Given the description of an element on the screen output the (x, y) to click on. 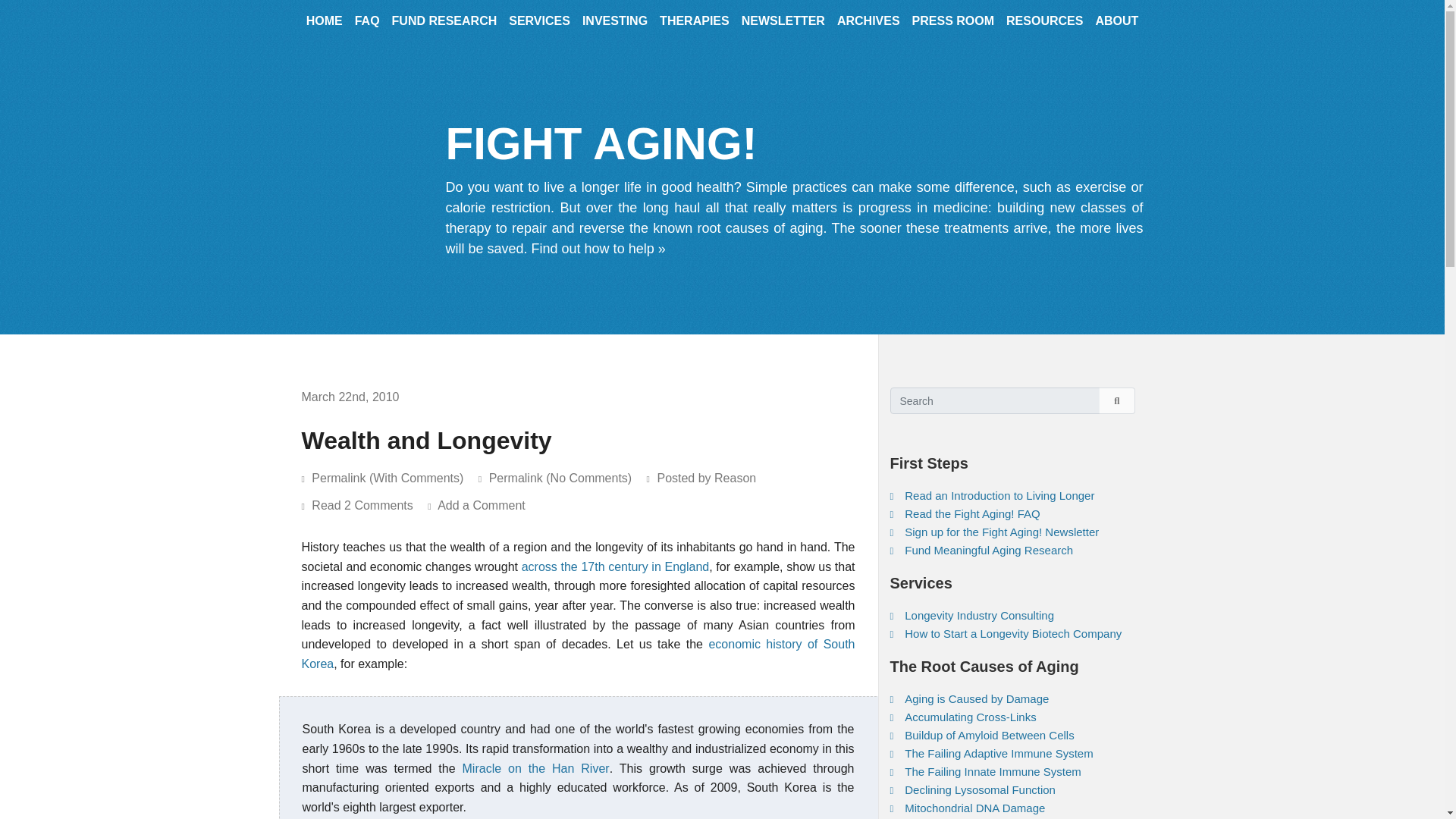
across the 17th century in England (615, 566)
FUND RESEARCH (444, 26)
SERVICES (539, 26)
Read 2 Comments (369, 504)
THERAPIES (694, 26)
economic history of South Korea (578, 654)
RESOURCES (1044, 26)
ABOUT (1116, 26)
HOME (324, 26)
PRESS ROOM (952, 26)
